Given the description of an element on the screen output the (x, y) to click on. 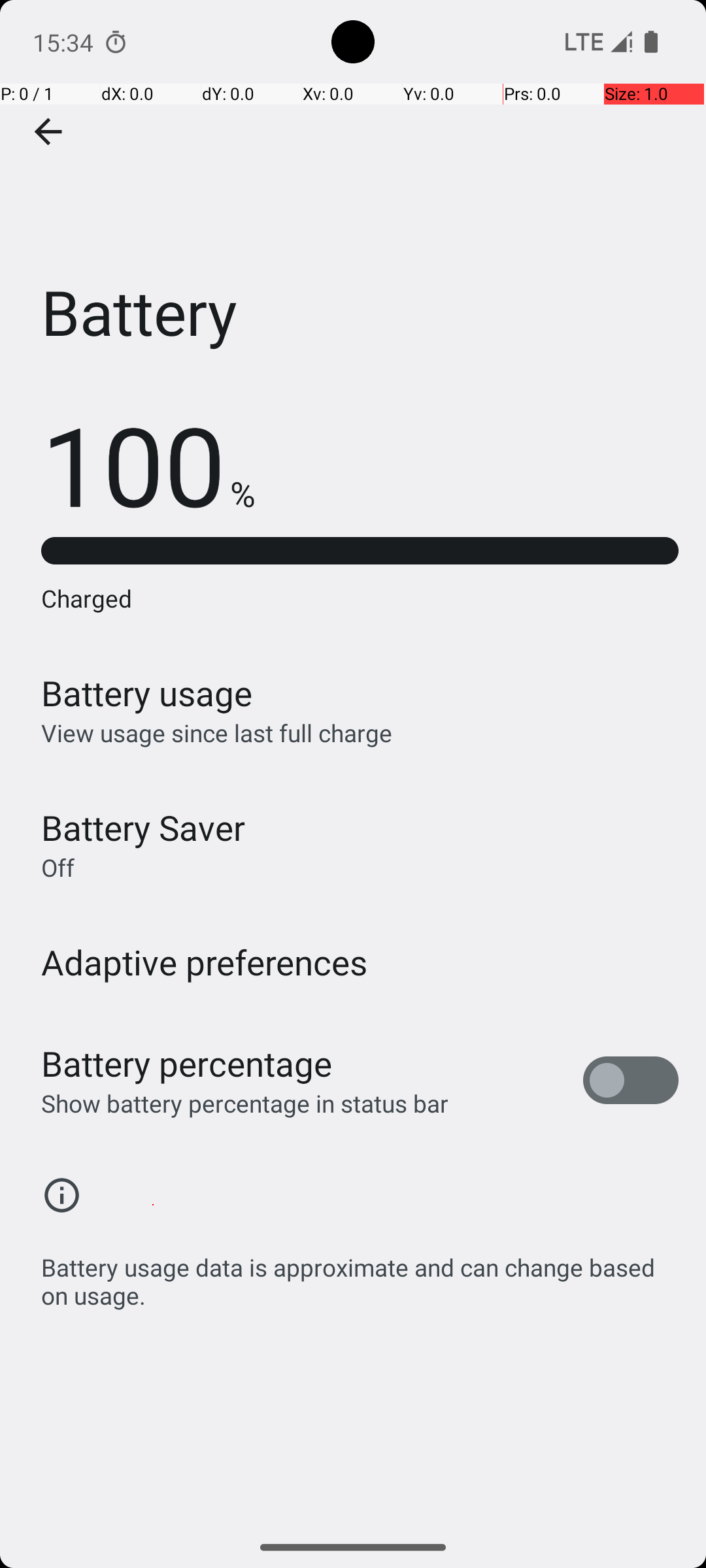
100 % Element type: android.widget.TextView (147, 463)
Charged Element type: android.widget.TextView (359, 597)
View usage since last full charge Element type: android.widget.TextView (216, 732)
Adaptive preferences Element type: android.widget.TextView (204, 961)
Battery percentage Element type: android.widget.TextView (186, 1063)
Show battery percentage in status bar Element type: android.widget.TextView (244, 1102)
Battery usage data is approximate and can change based on usage. Element type: android.widget.TextView (359, 1274)
